Given the description of an element on the screen output the (x, y) to click on. 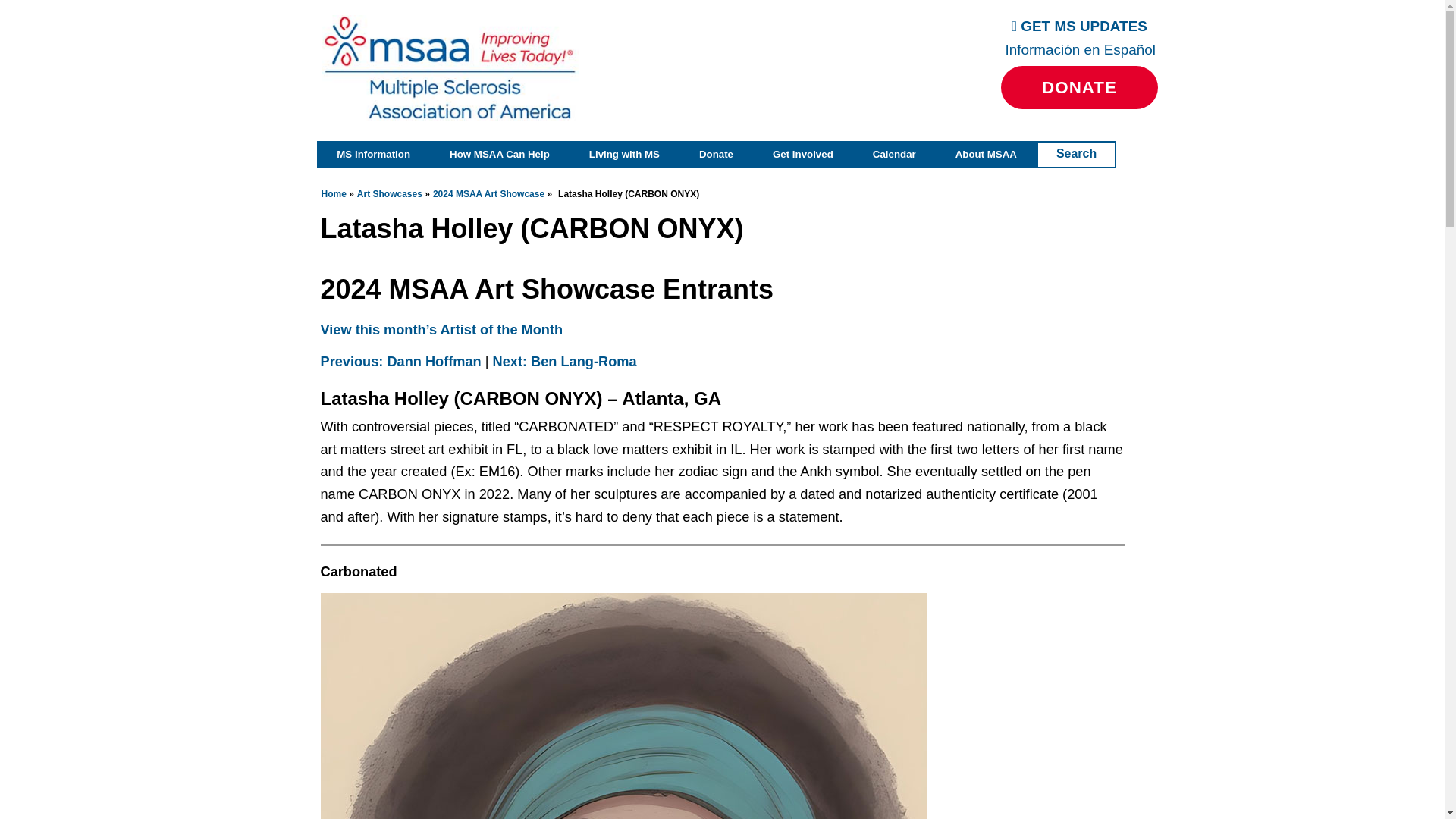
MS Information (373, 154)
Search the MSAA Website (1076, 154)
Living with MS (624, 154)
DONATE (1079, 87)
GET MS UPDATES (1079, 26)
How MSAA Can Help (498, 154)
MSAA (450, 68)
